Given the description of an element on the screen output the (x, y) to click on. 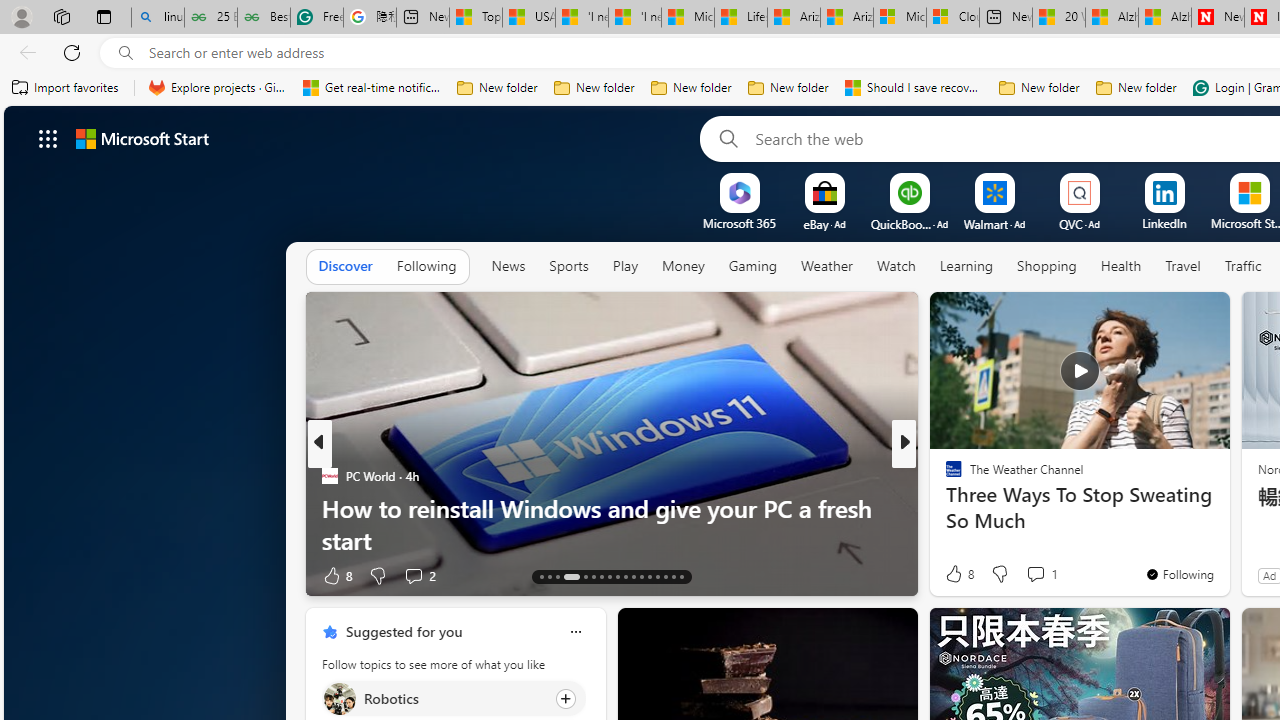
View comments 7 Comment (1036, 575)
Robotics (338, 697)
Microsoft Services Agreement (899, 17)
AutomationID: tab-28 (673, 576)
AutomationID: tab-29 (681, 576)
View comments 2 Comment (413, 575)
AutomationID: tab-20 (609, 576)
120 Like (959, 574)
244 Like (959, 574)
40 Like (956, 574)
New folder (1136, 88)
Watch (896, 267)
